Given the description of an element on the screen output the (x, y) to click on. 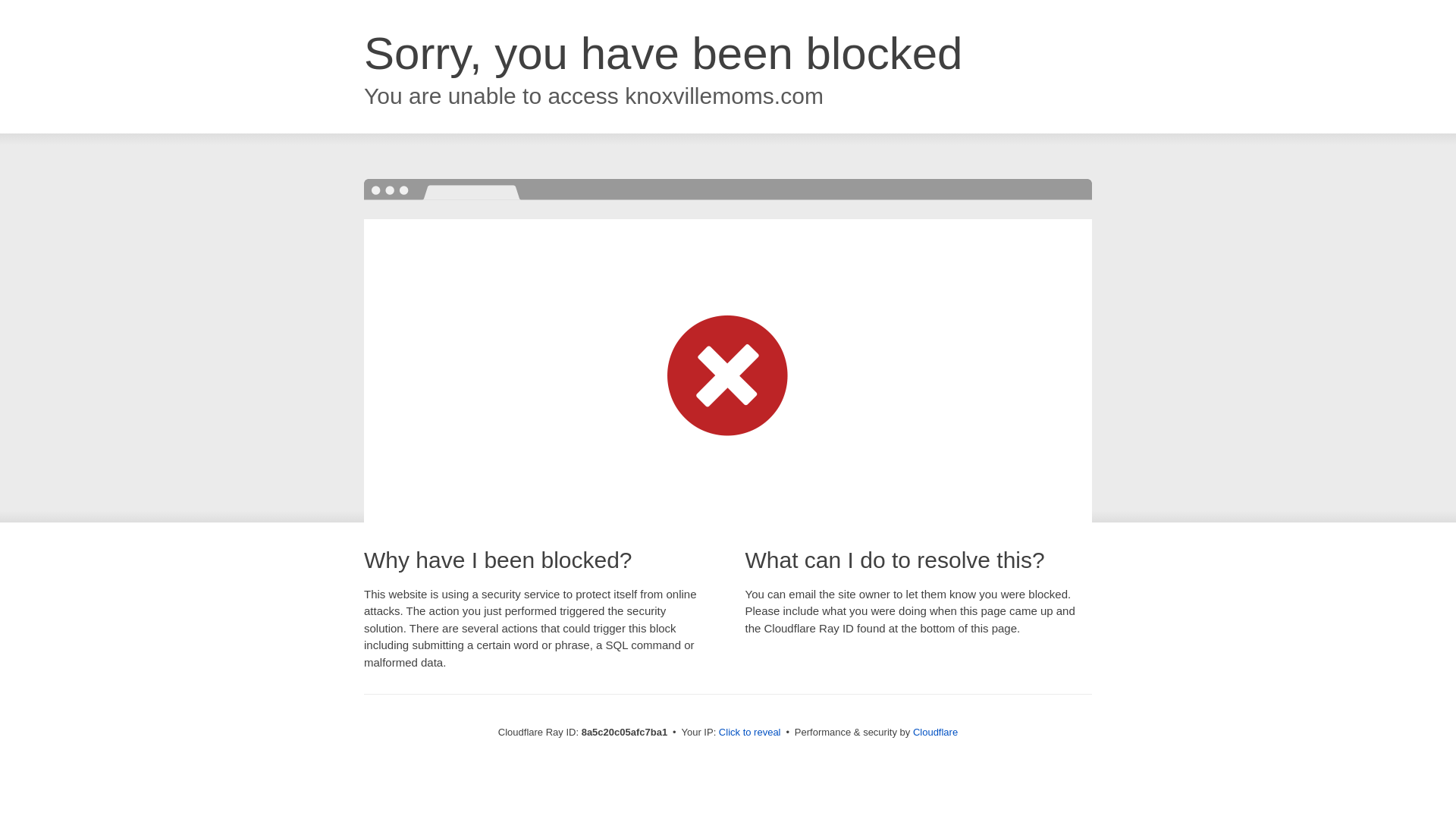
Cloudflare (935, 731)
Click to reveal (749, 732)
